Given the description of an element on the screen output the (x, y) to click on. 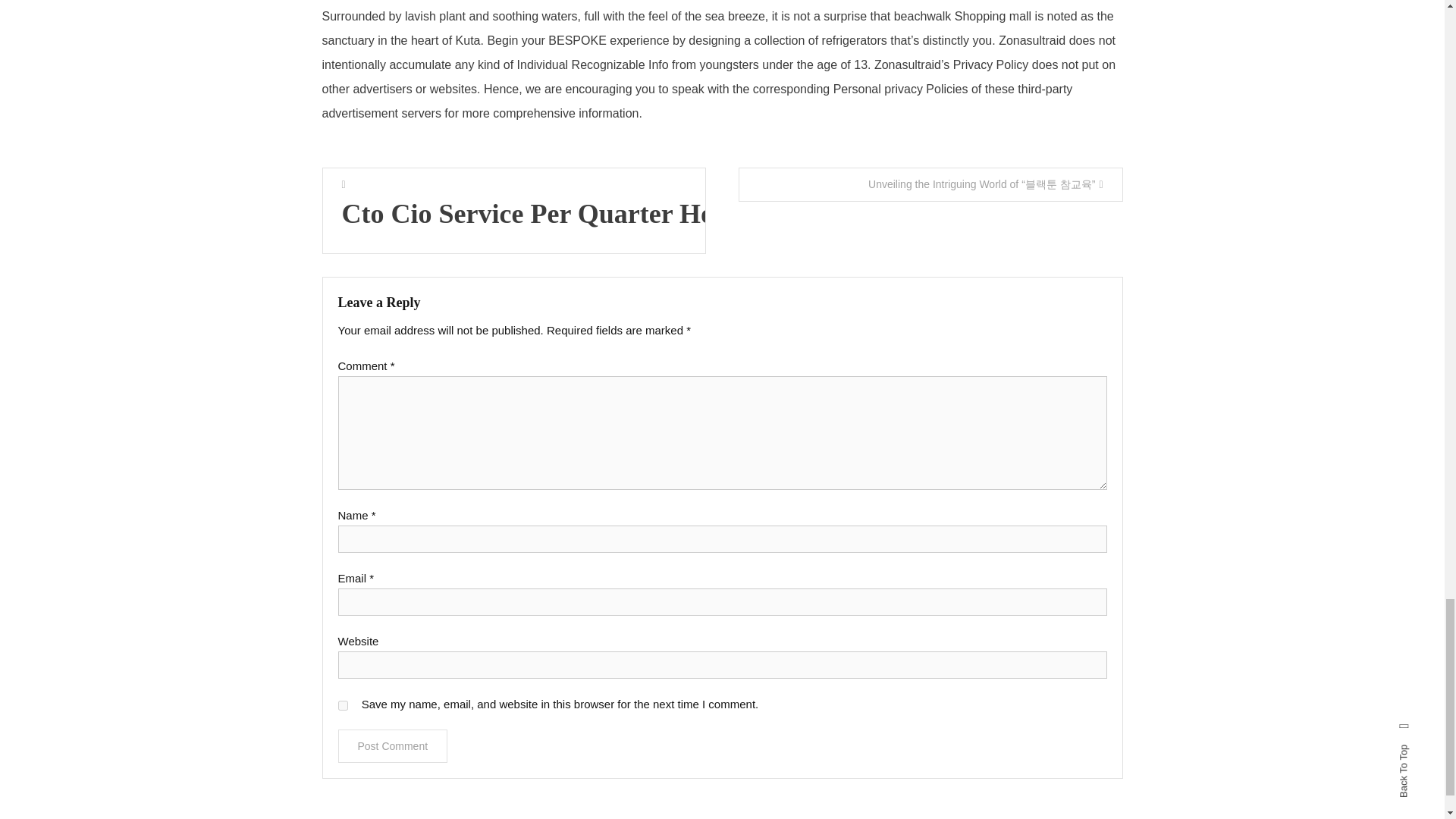
Post Comment (392, 745)
yes (342, 705)
